Given the description of an element on the screen output the (x, y) to click on. 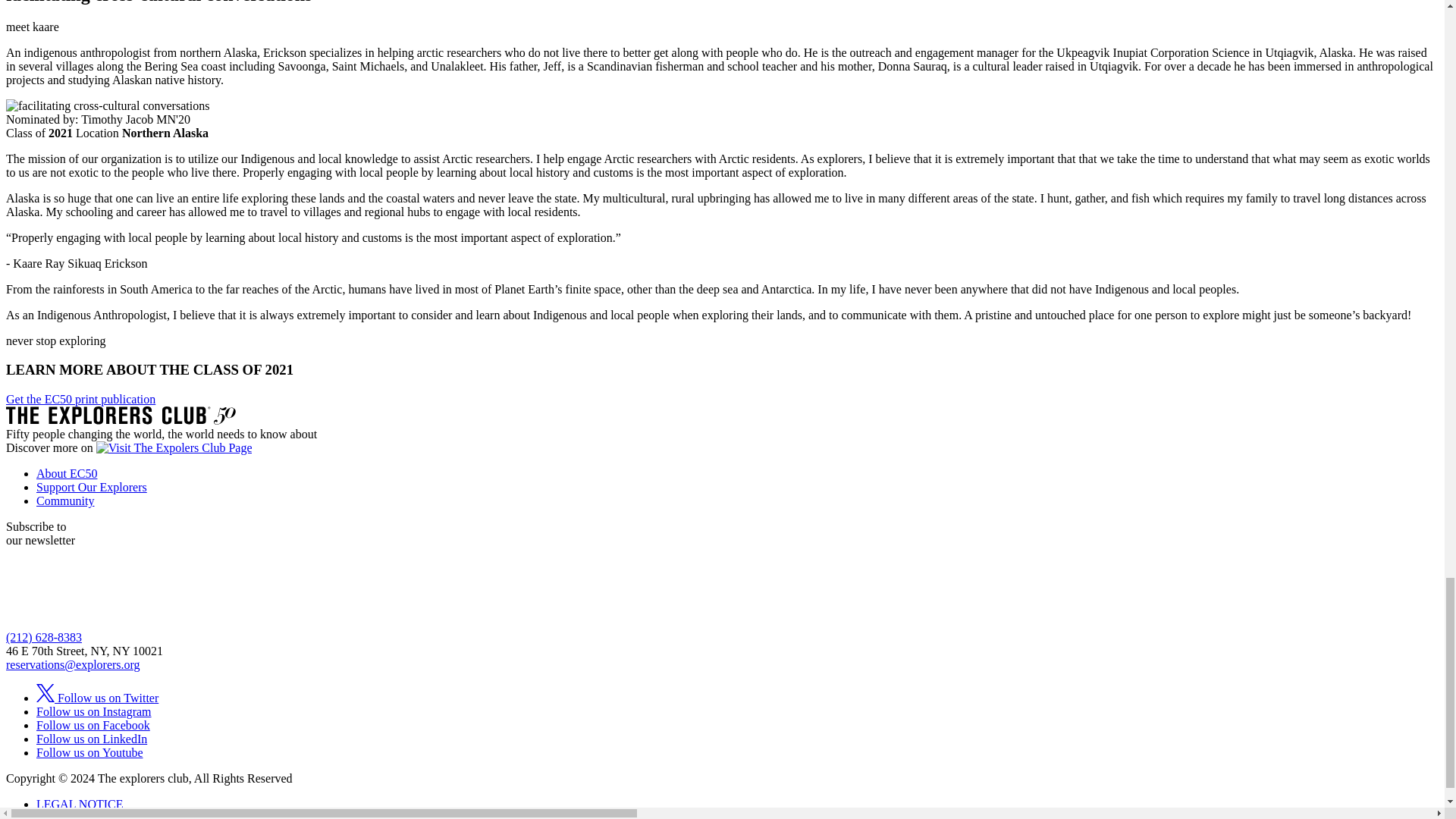
Community (65, 500)
Follow us on LinkedIn (91, 738)
Visit The Expolers Club Page (173, 447)
Follow us on Facebook (92, 725)
Follow us on Twitter (97, 697)
LEGAL NOTICE (79, 803)
Rolex time (149, 601)
Follow us on Instagram (93, 711)
Support Our Explorers (91, 486)
About EC50 (66, 472)
